Given the description of an element on the screen output the (x, y) to click on. 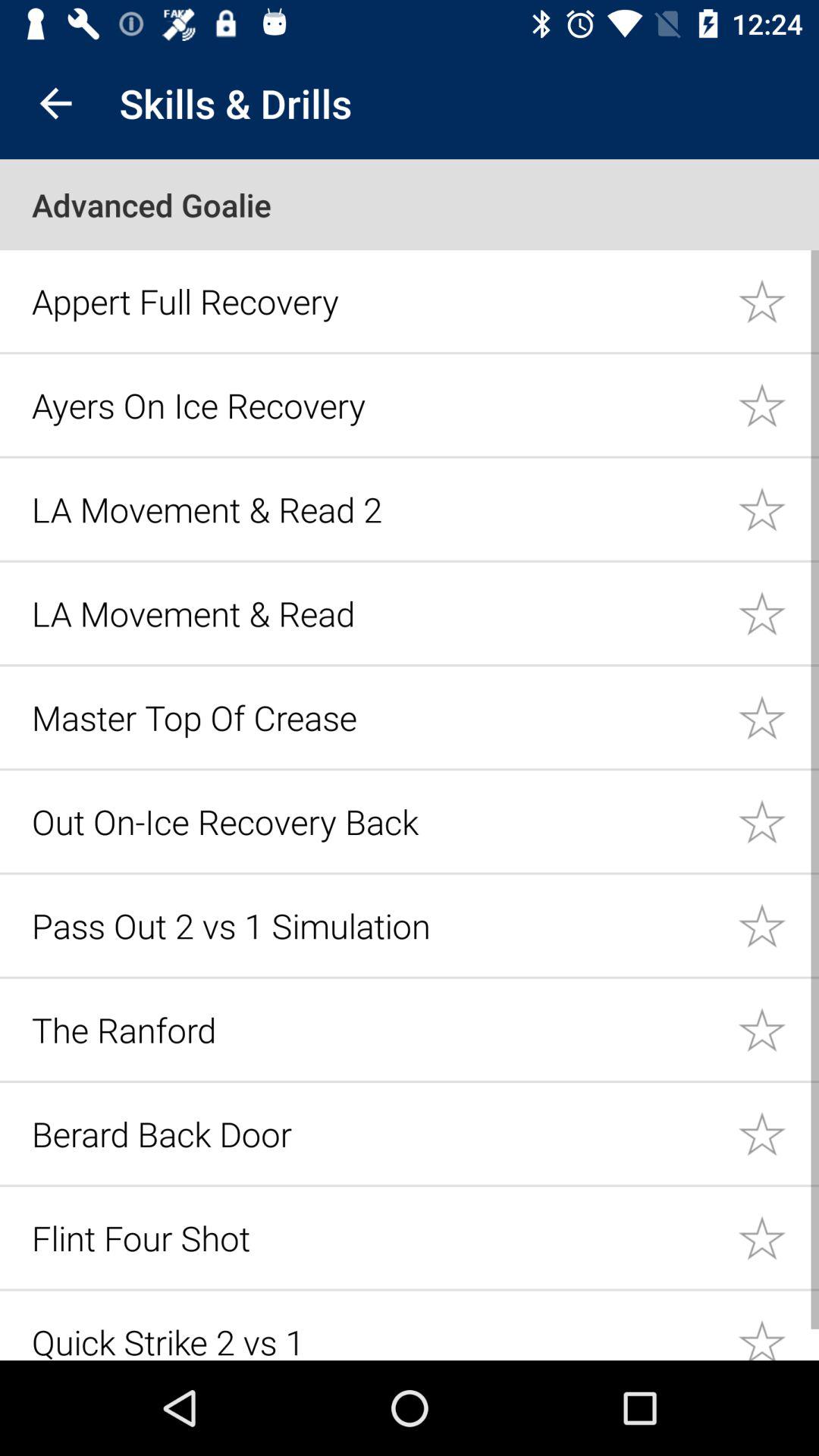
toggle favorite (778, 1133)
